Given the description of an element on the screen output the (x, y) to click on. 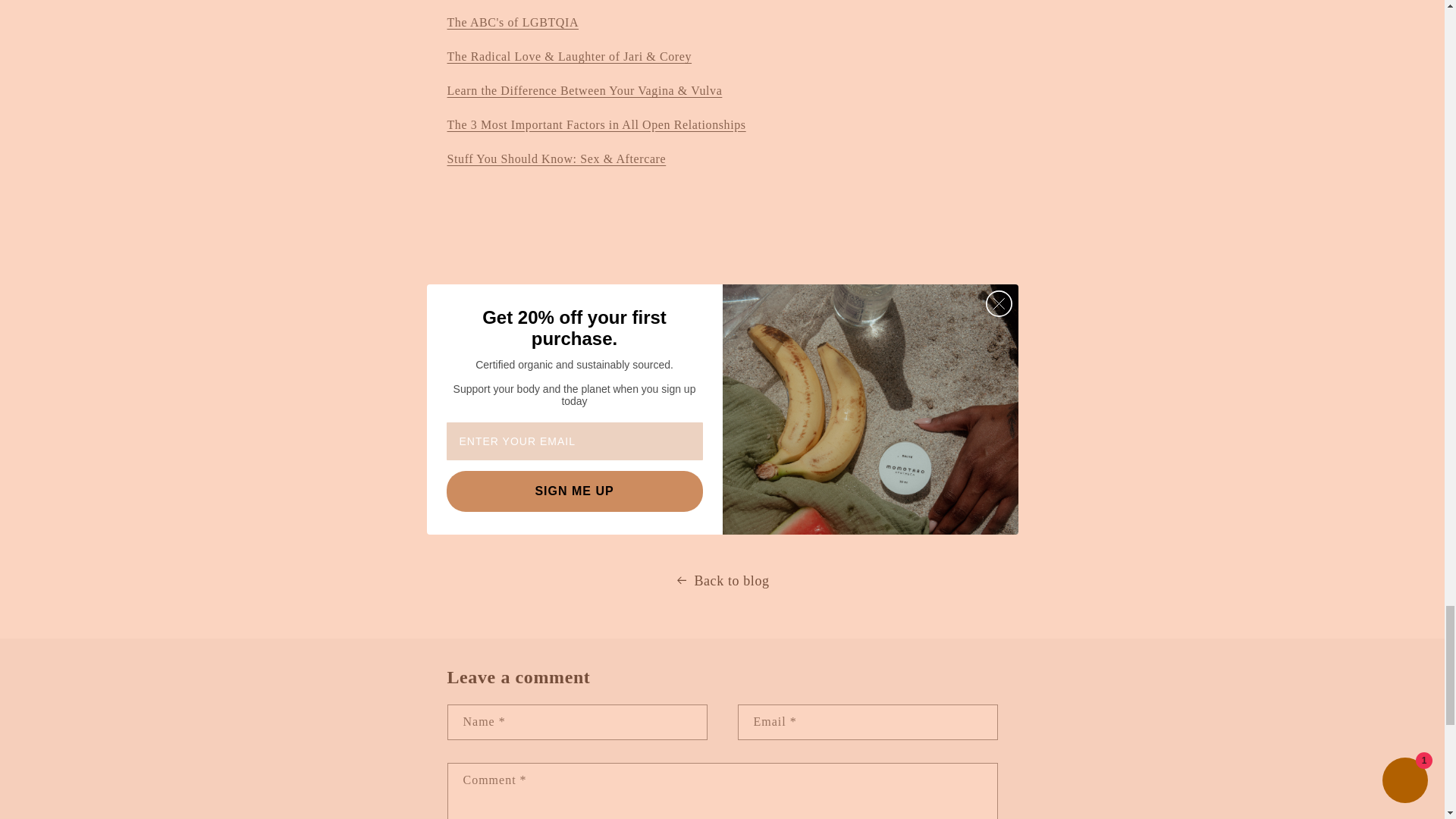
The ABC's of LGBTQIA (512, 21)
